Given the description of an element on the screen output the (x, y) to click on. 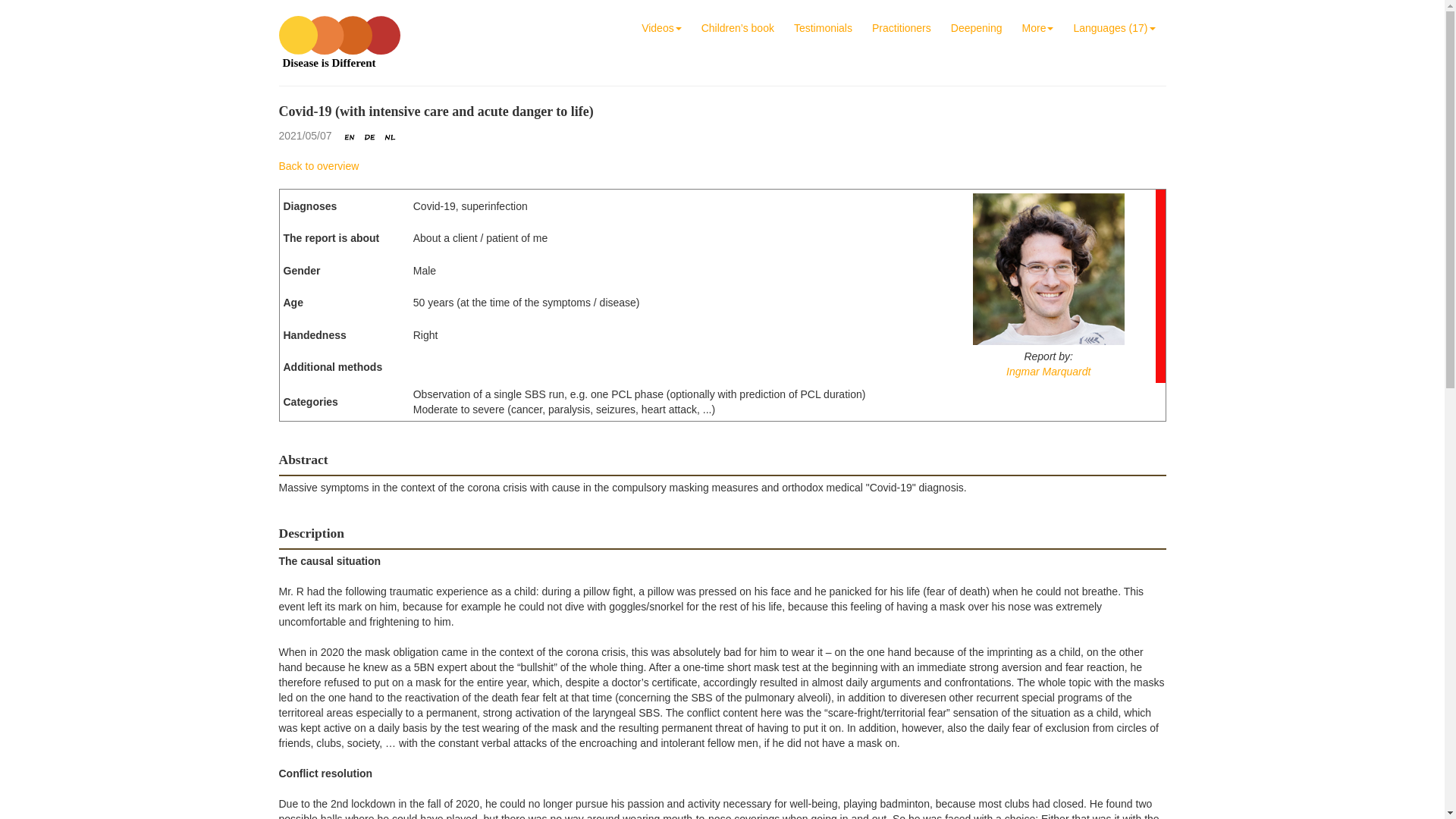
More (1037, 27)
Videos (660, 27)
Switch to dutch version (390, 136)
Deepening (976, 27)
Switch to native version (368, 136)
Current version (349, 136)
Testimonials (822, 27)
Practitioners (901, 27)
